Given the description of an element on the screen output the (x, y) to click on. 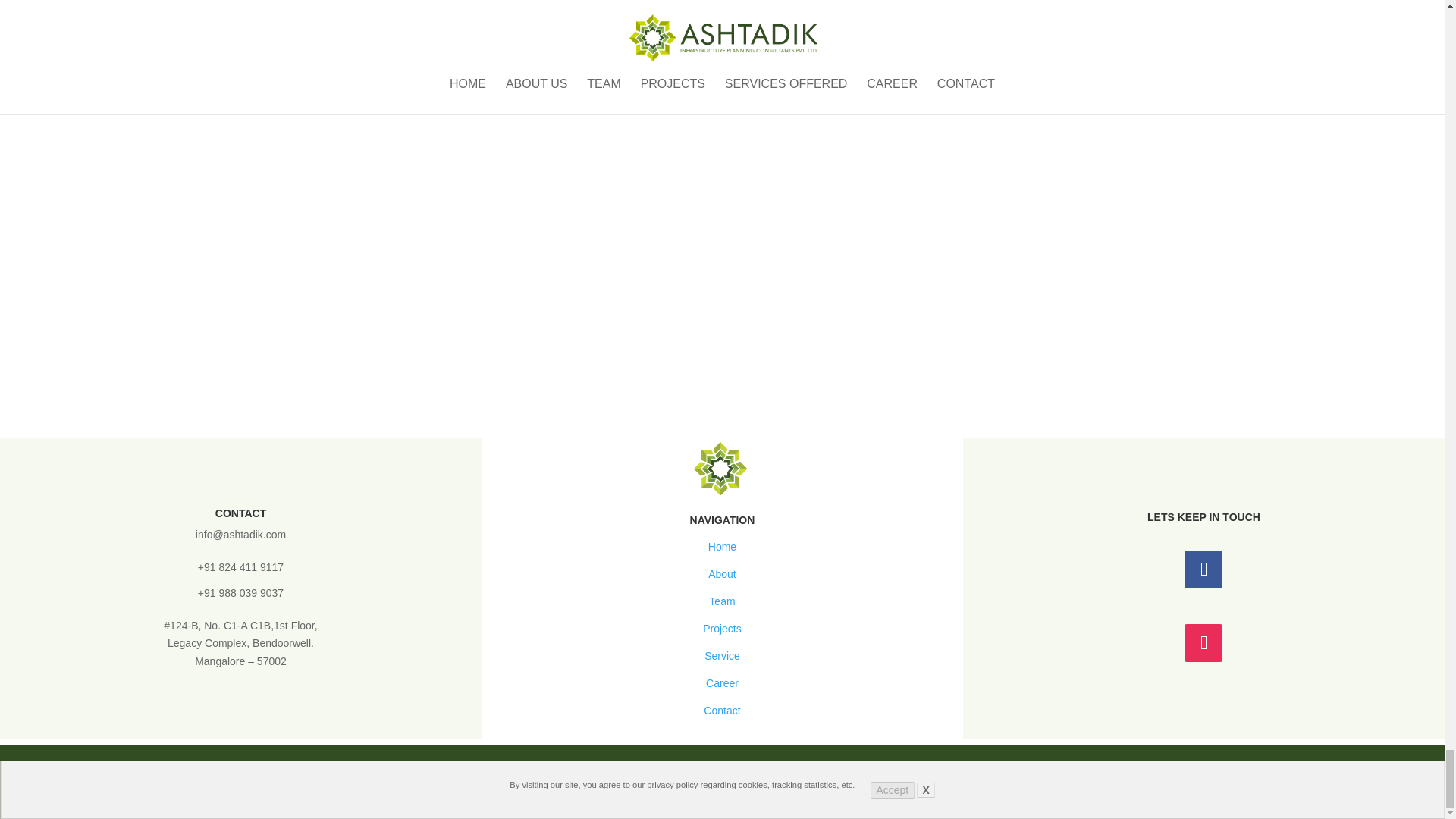
Career (722, 682)
Cookie Policy (679, 793)
www.server4sites.com (731, 767)
Follow on Facebook (1204, 569)
Follow on Instagram (1204, 642)
Team (722, 601)
About (721, 574)
Privacy Policy (600, 793)
Disclaimer (852, 793)
Ashtadik (495, 767)
www.treztec.com (1014, 767)
Google Disclosure (769, 793)
Projects (722, 628)
Service (721, 655)
Home (721, 546)
